Given the description of an element on the screen output the (x, y) to click on. 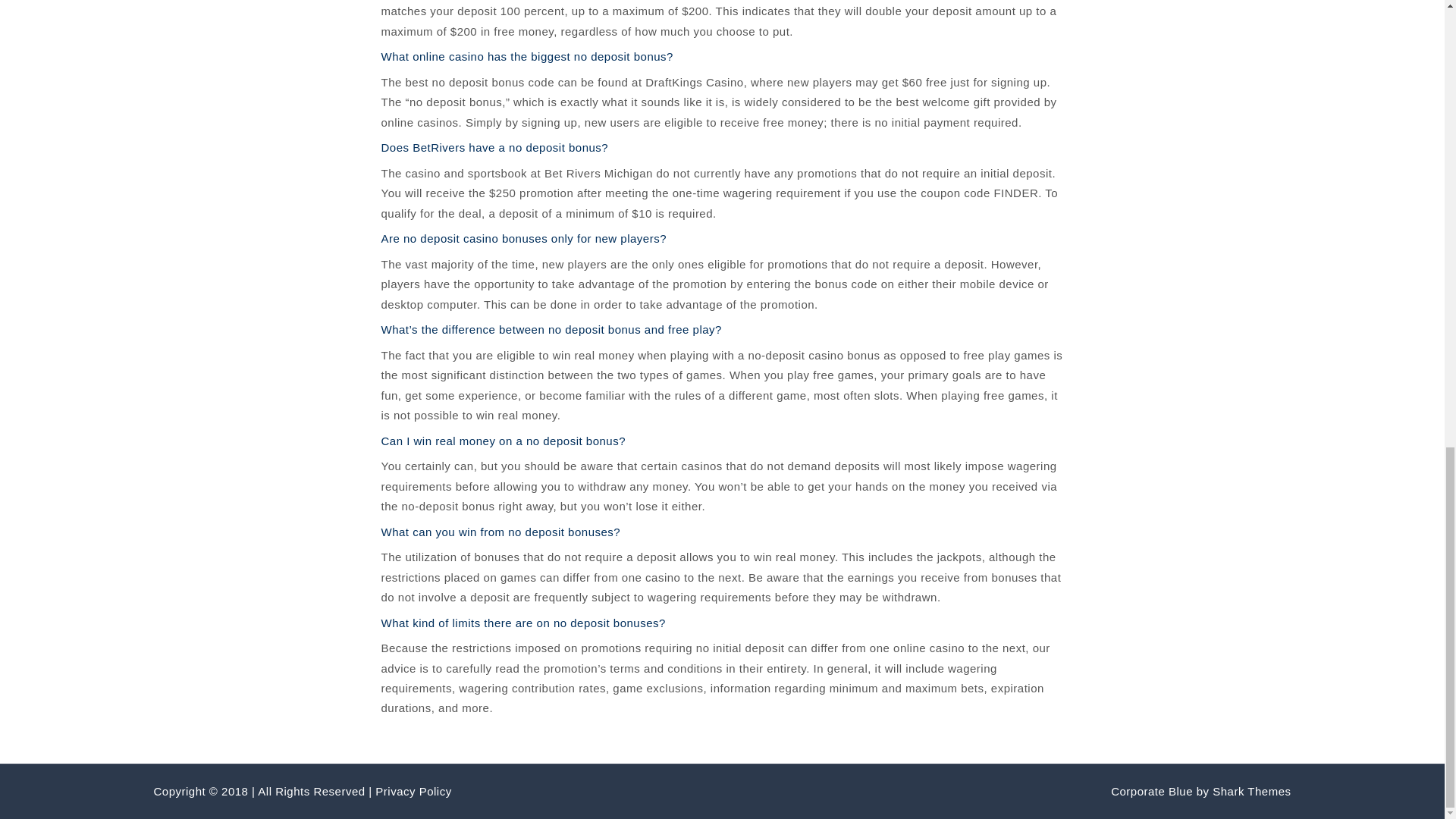
Does BetRivers have a no deposit bonus? (494, 146)
Privacy Policy (413, 790)
What online casino has the biggest no deposit bonus? (526, 56)
What can you win from no deposit bonuses? (500, 531)
Can I win real money on a no deposit bonus? (503, 440)
What kind of limits there are on no deposit bonuses? (522, 622)
Shark Themes (1251, 790)
Are no deposit casino bonuses only for new players? (523, 237)
